Given the description of an element on the screen output the (x, y) to click on. 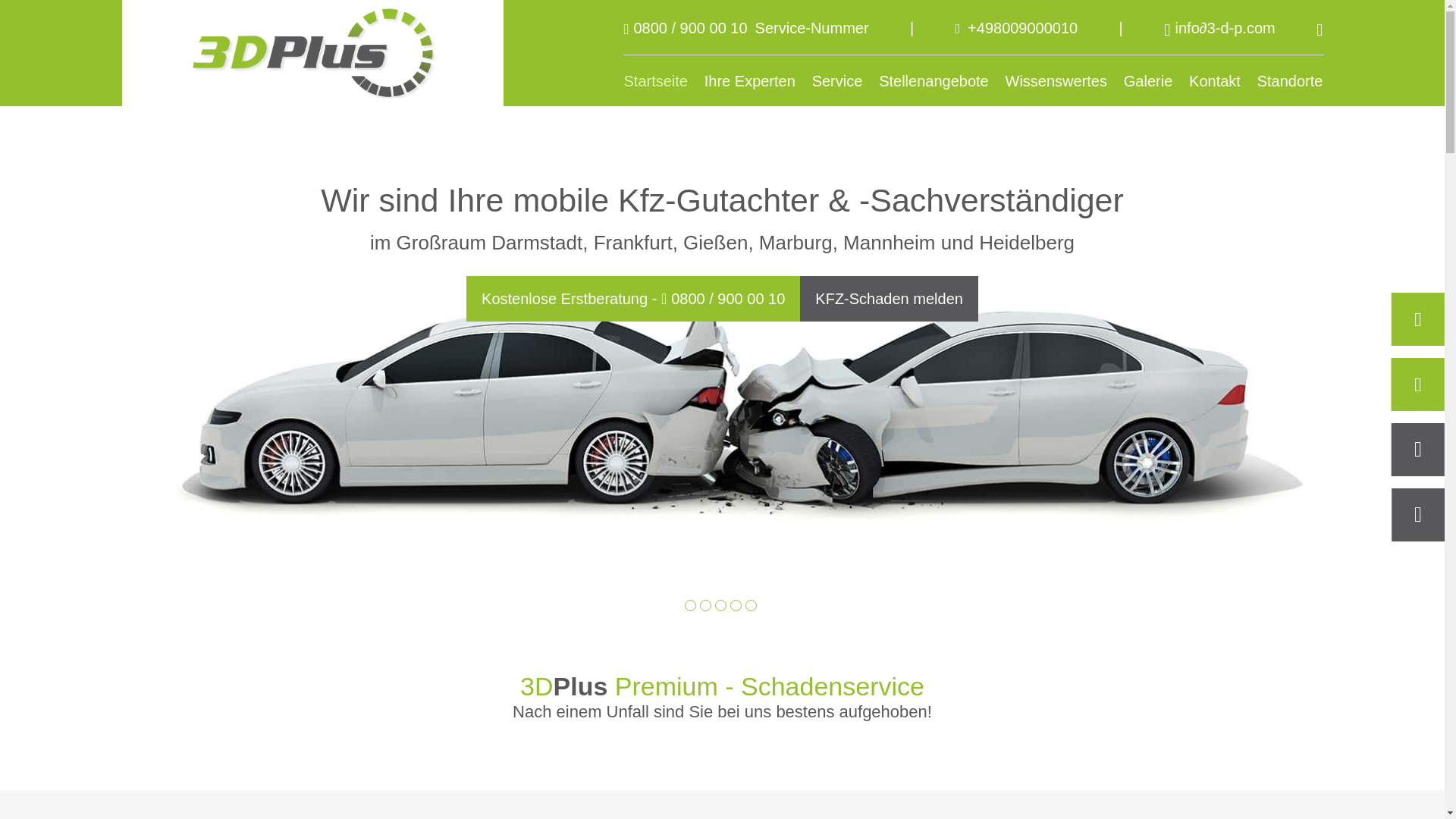
KFZ-Schaden melden Element type: text (889, 298)
Startseite Element type: text (655, 79)
0800 / 900 00 10 Element type: text (727, 298)
Ihre Experten Element type: text (749, 79)
Stellenangebote Element type: text (933, 79)
Wissenswertes Element type: text (1056, 79)
Kontakt Element type: text (1214, 79)
Besuchen Sie uns auf Facebook! Element type: hover (1319, 29)
3D Plus GmbH Element type: hover (312, 53)
Galerie Element type: text (1147, 79)
0800 / 900 00 10 Element type: text (691, 27)
Sitemap anzeigen Element type: text (841, 467)
+498009000010 Element type: text (1022, 27)
